Given the description of an element on the screen output the (x, y) to click on. 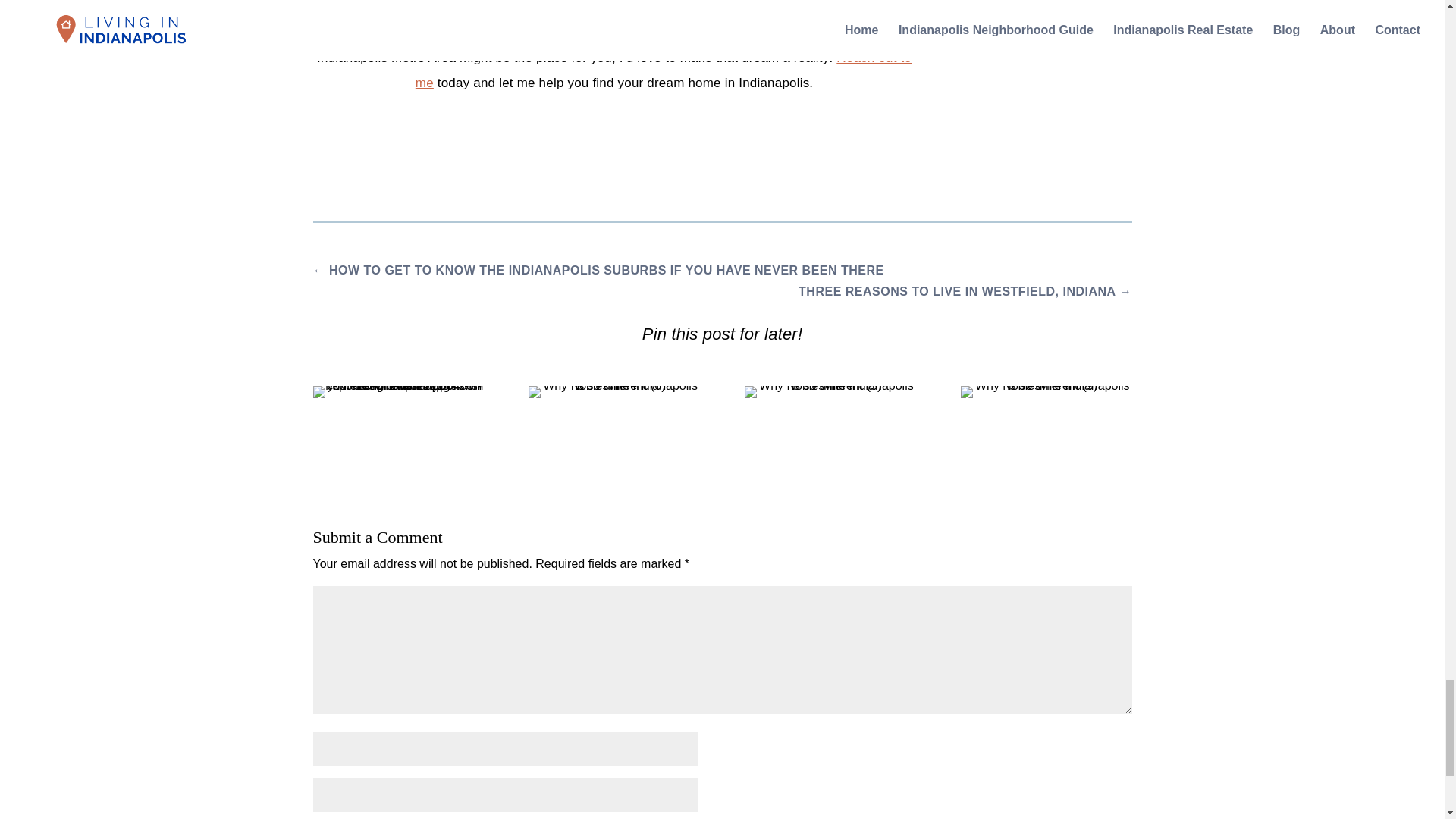
Reach out to me (662, 69)
